Given the description of an element on the screen output the (x, y) to click on. 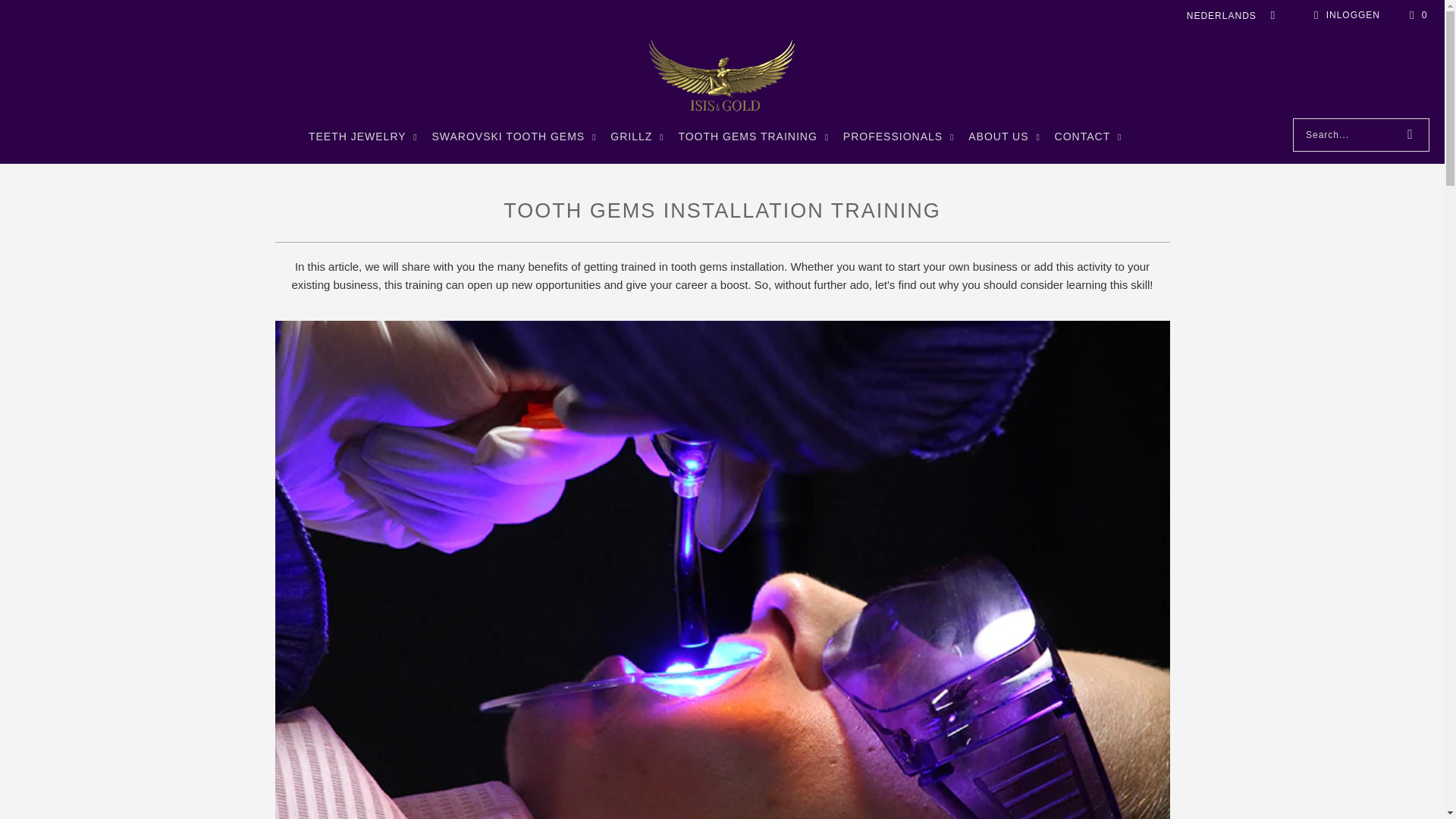
Mijn account  (1344, 14)
